Given the description of an element on the screen output the (x, y) to click on. 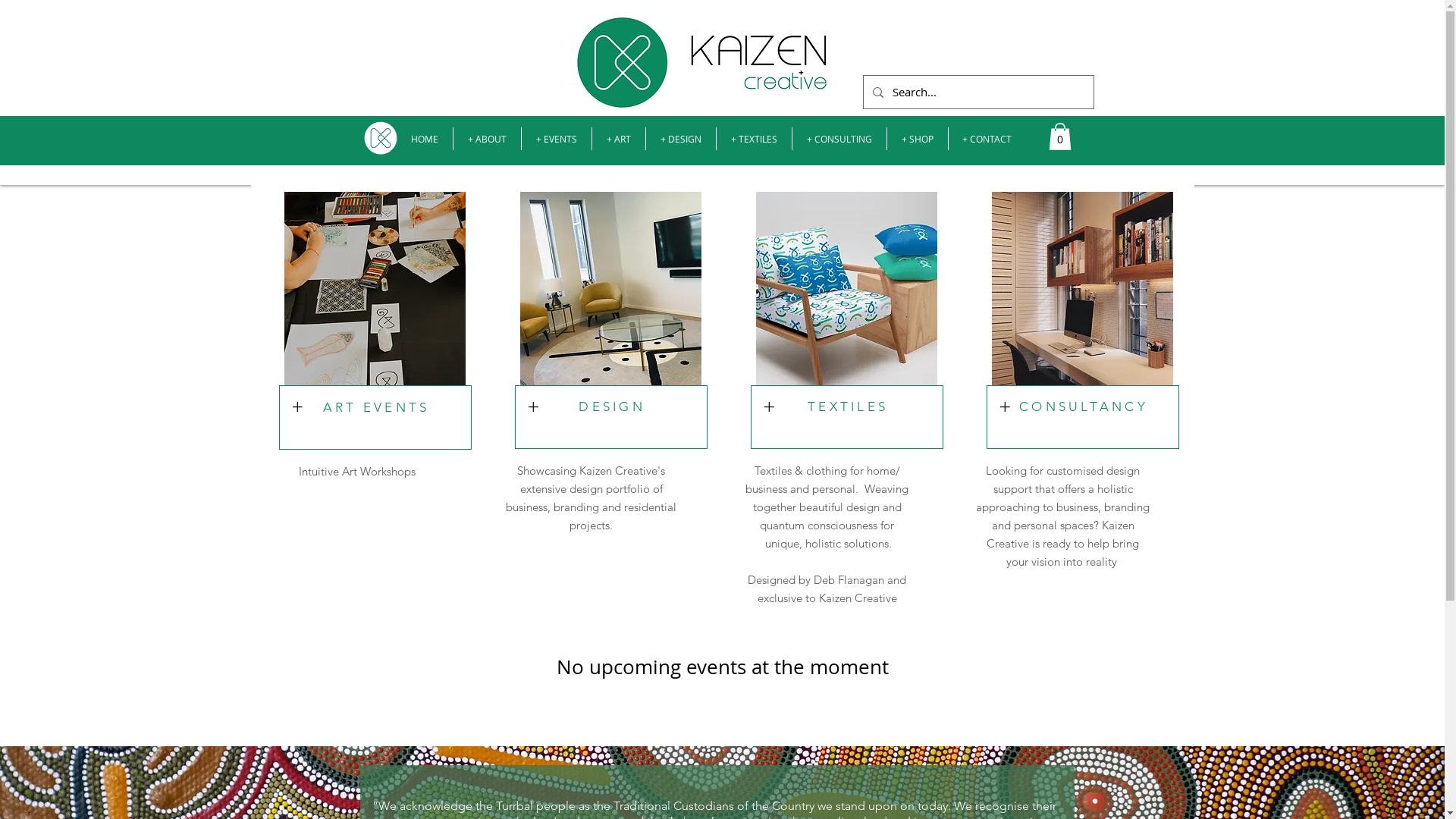
+ CONSULTING Element type: text (838, 138)
+ ART Element type: text (617, 138)
0 Element type: text (1059, 136)
+ TEXTILES Element type: text (752, 138)
+ EVENTS Element type: text (556, 138)
+ SHOP Element type: text (917, 138)
HOME Element type: text (423, 138)
+ CONTACT Element type: text (986, 138)
+ DESIGN Element type: text (680, 138)
+ ABOUT Element type: text (486, 138)
